Given the description of an element on the screen output the (x, y) to click on. 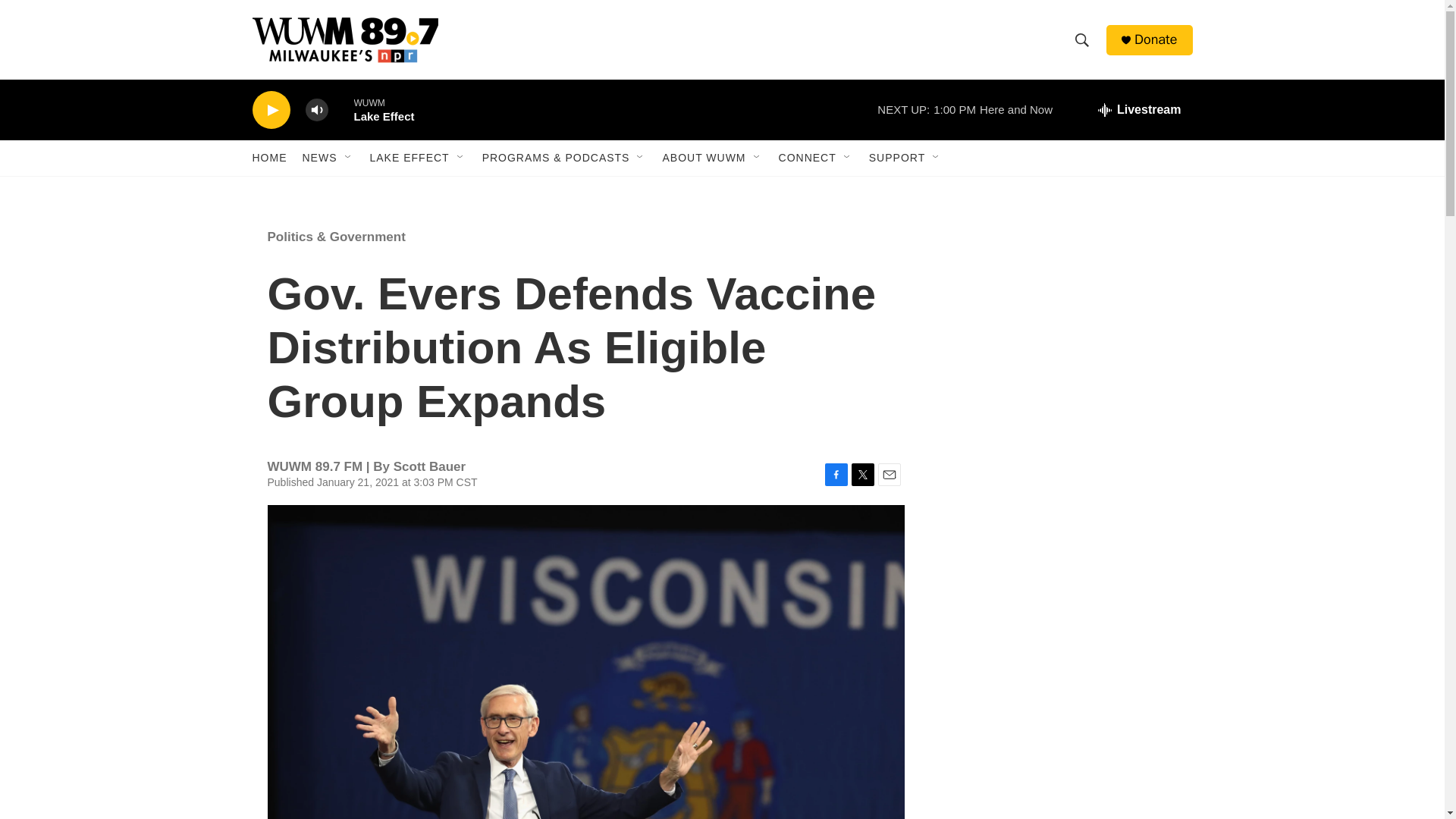
3rd party ad content (1062, 574)
3rd party ad content (1062, 335)
3rd party ad content (1062, 759)
